Given the description of an element on the screen output the (x, y) to click on. 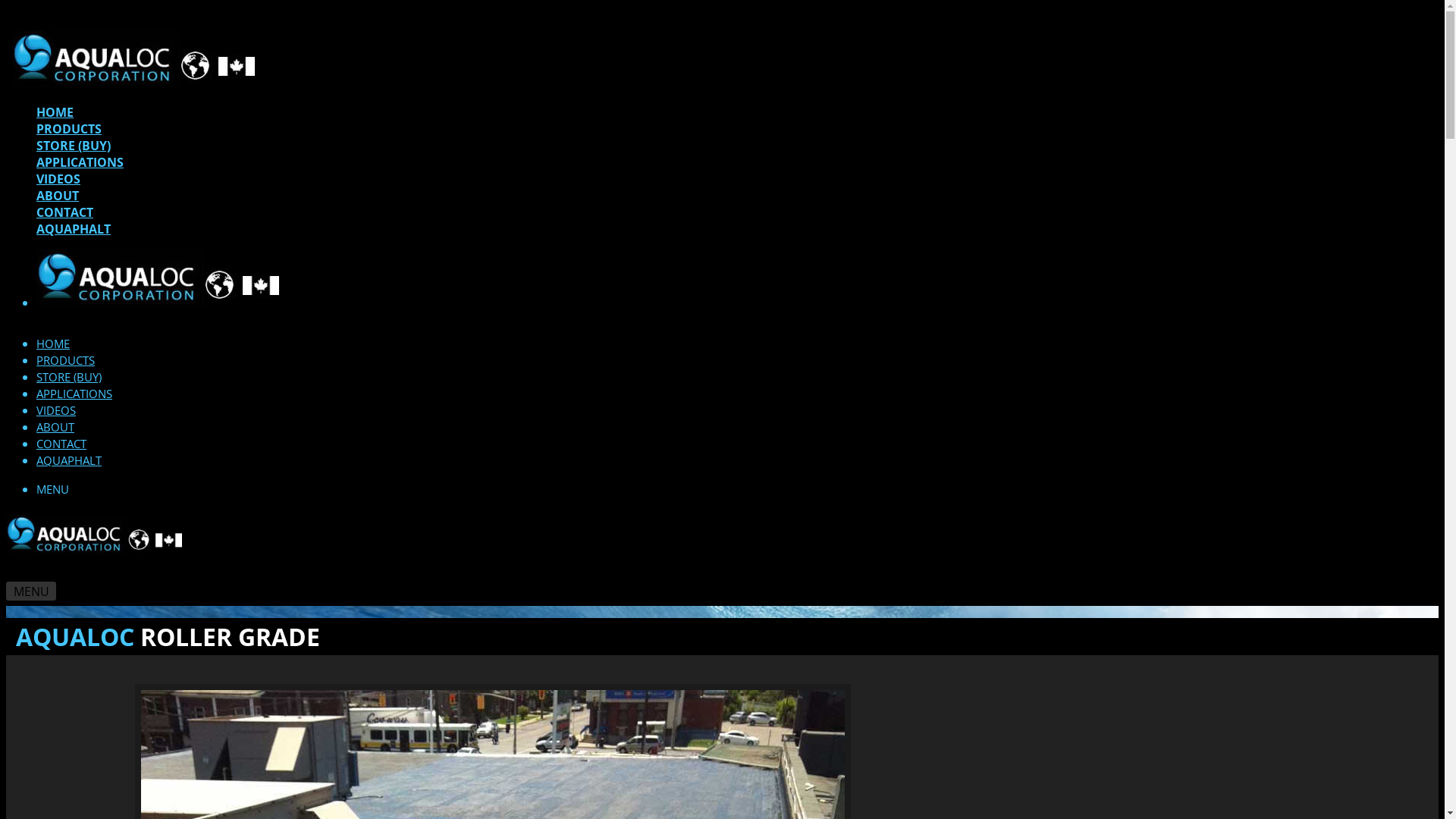
VIDEOS Element type: text (55, 409)
HOME Element type: text (52, 343)
PRODUCTS Element type: text (65, 359)
ABOUT Element type: text (57, 195)
STORE (BUY) Element type: text (68, 376)
APPLICATIONS Element type: text (79, 161)
ABOUT Element type: text (55, 426)
HOME Element type: text (54, 111)
APPLICATIONS Element type: text (74, 393)
CONTACT Element type: text (61, 443)
AQUAPHALT Element type: text (73, 228)
STORE (BUY) Element type: text (73, 145)
MENU Element type: text (31, 590)
AQUAPHALT Element type: text (68, 459)
VIDEOS Element type: text (58, 178)
PRODUCTS Element type: text (68, 128)
CONTACT Element type: text (64, 211)
MENU Element type: text (52, 488)
